Given the description of an element on the screen output the (x, y) to click on. 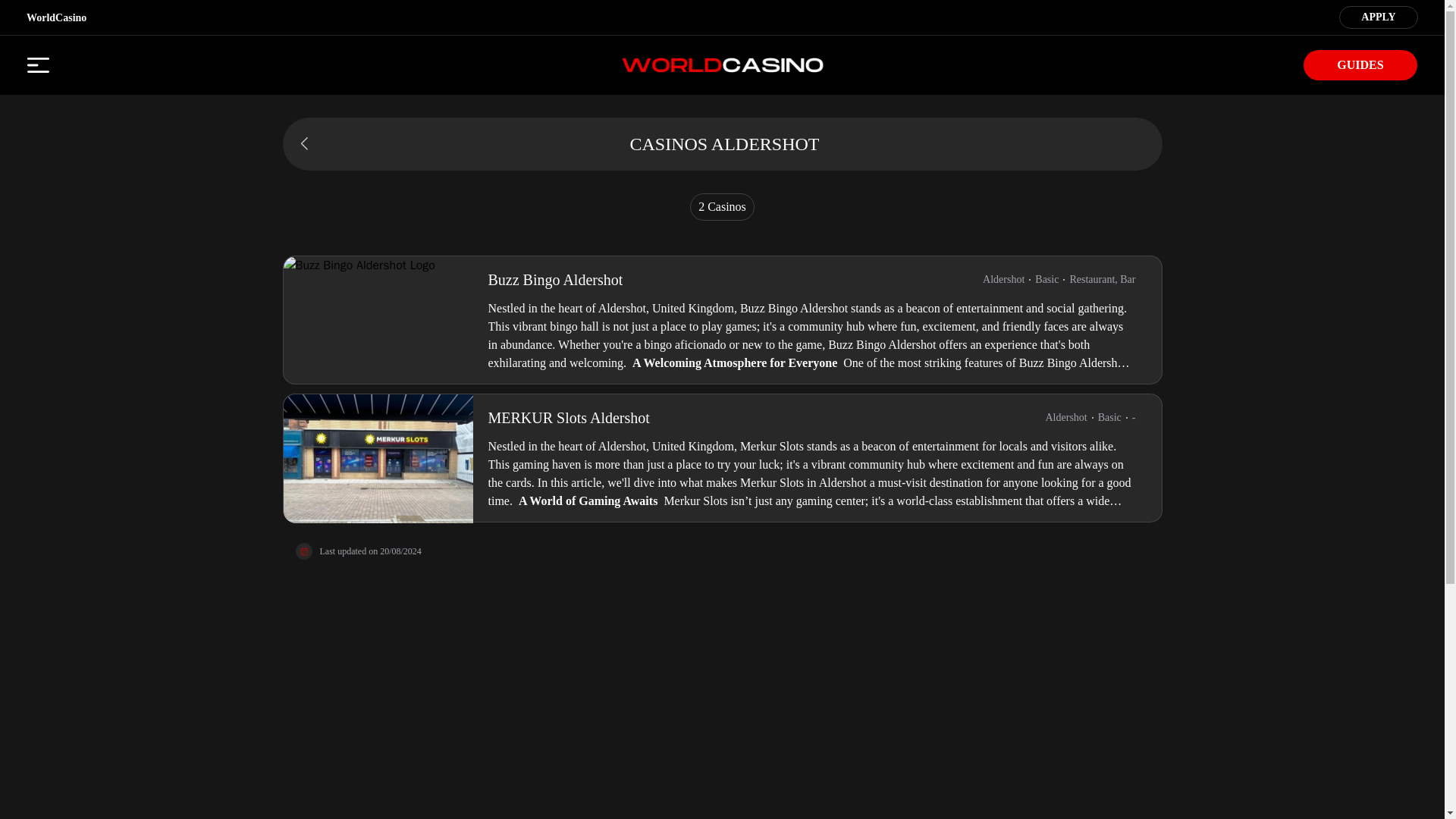
GUIDES (1359, 64)
APPLY (1377, 15)
WorldCasino (55, 17)
